Given the description of an element on the screen output the (x, y) to click on. 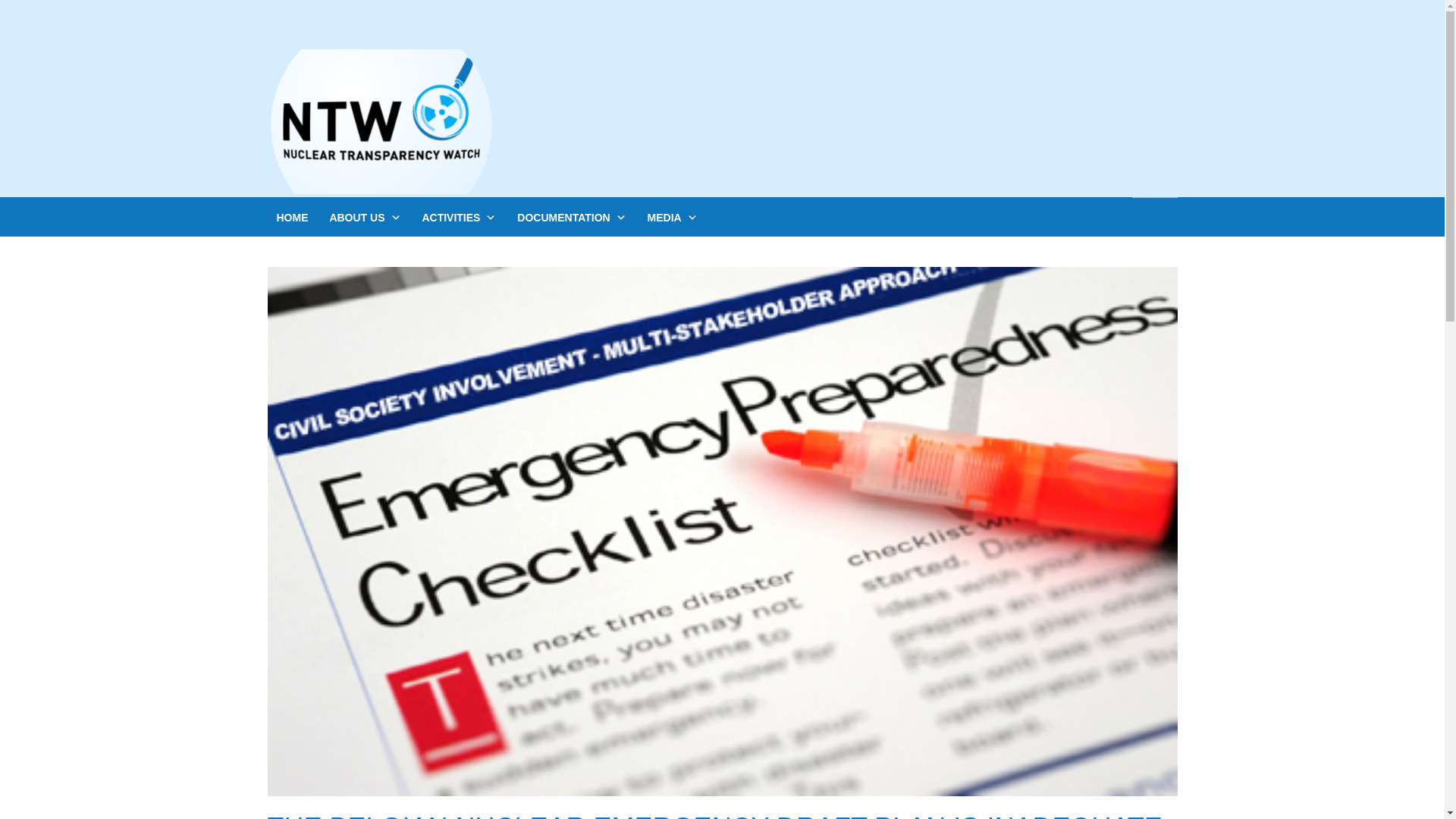
ABOUT US (364, 216)
MEDIA (672, 216)
DOCUMENTATION (571, 216)
Nuclear Transparency Watch (380, 121)
HOME (291, 217)
ACTIVITIES (458, 216)
